Given the description of an element on the screen output the (x, y) to click on. 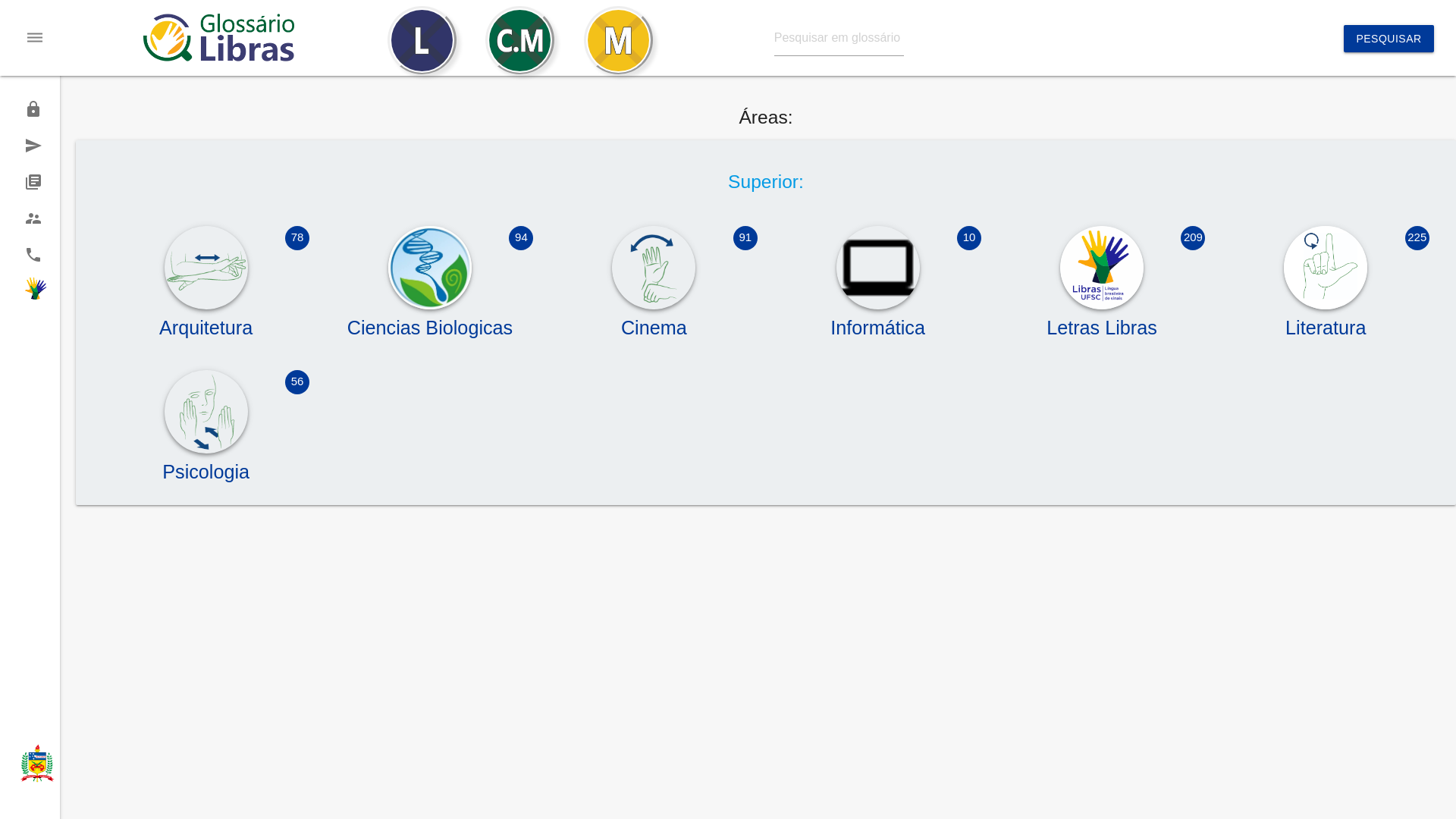
call
Contato Element type: text (29, 254)
94
Ciencias Biologicas Element type: text (429, 320)
91
Cinema Element type: text (653, 320)
56
Psicologia Element type: text (205, 464)
supervisor_account
Equipe Element type: text (29, 218)
225
Literatura Element type: text (1325, 320)
Superior: Element type: text (765, 181)
209
Letras Libras Element type: text (1101, 320)
https
Admin Element type: text (29, 109)
78
Arquitetura Element type: text (205, 320)
send
Sugerir um Sinal Element type: text (29, 145)
PESQUISAR
close Element type: text (1388, 38)
dehaze Element type: text (34, 37)
Portal Libras Element type: text (29, 291)
